Given the description of an element on the screen output the (x, y) to click on. 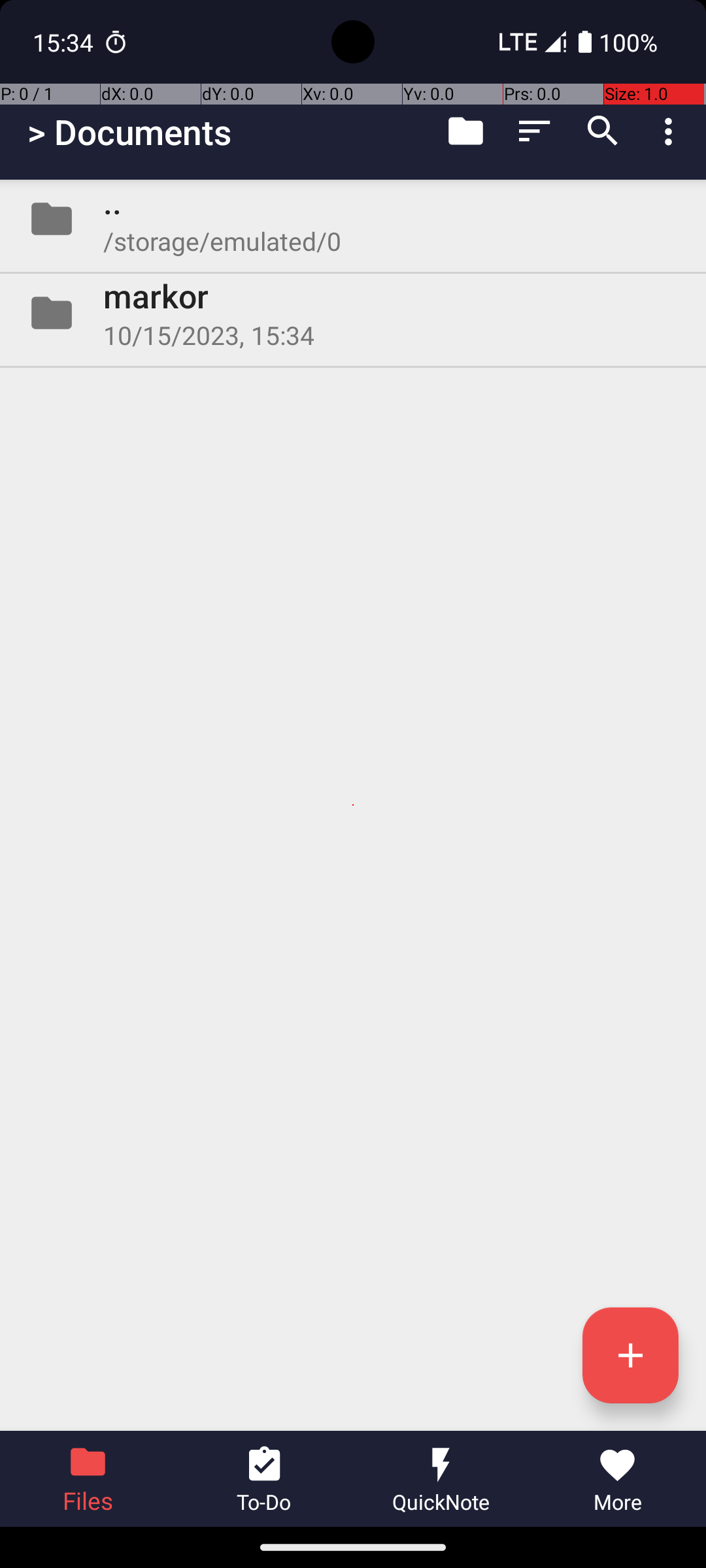
> Documents Element type: android.widget.TextView (129, 131)
Folder markor  Element type: android.widget.LinearLayout (353, 312)
